Given the description of an element on the screen output the (x, y) to click on. 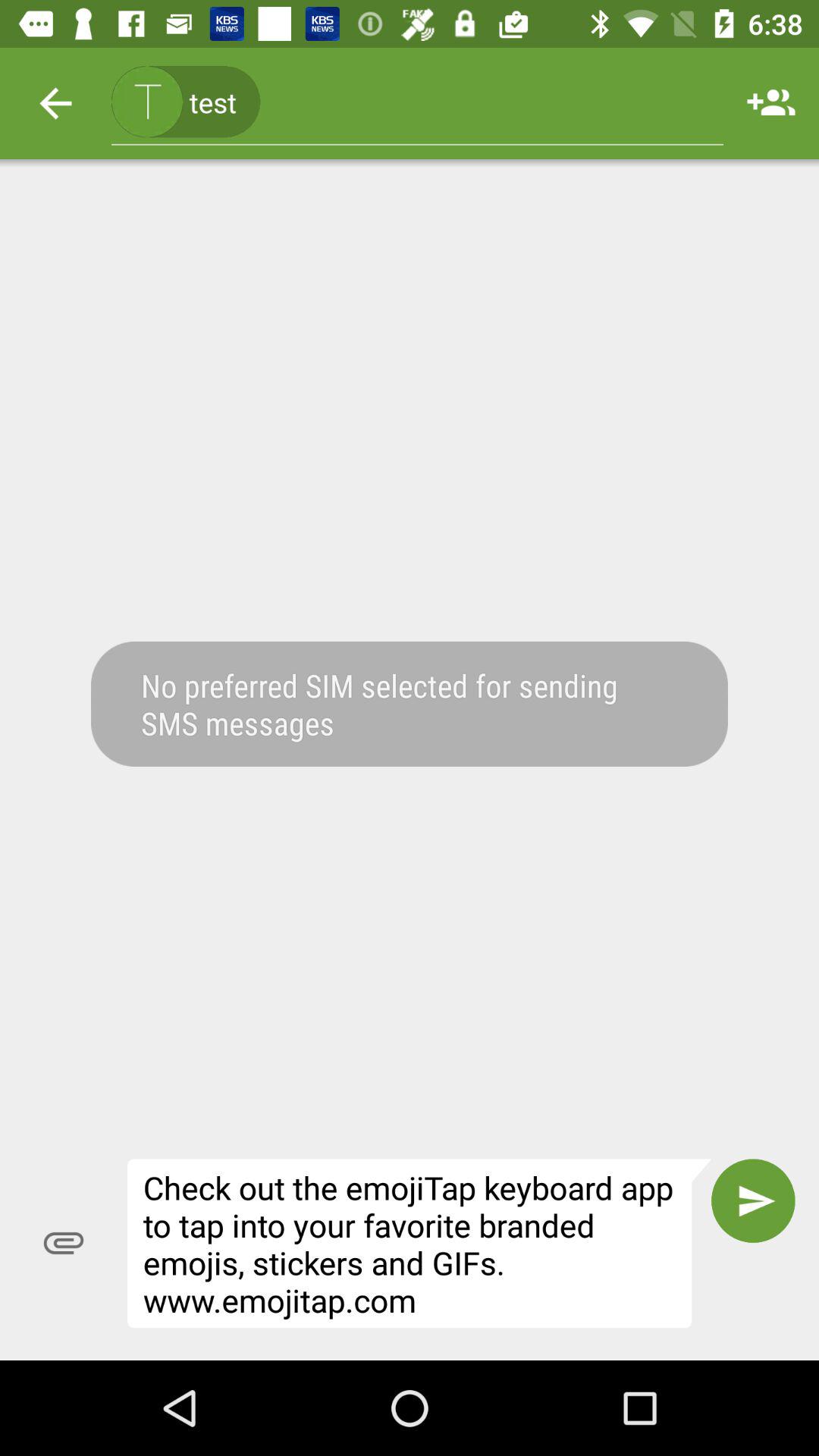
flip to check out the (419, 1243)
